Given the description of an element on the screen output the (x, y) to click on. 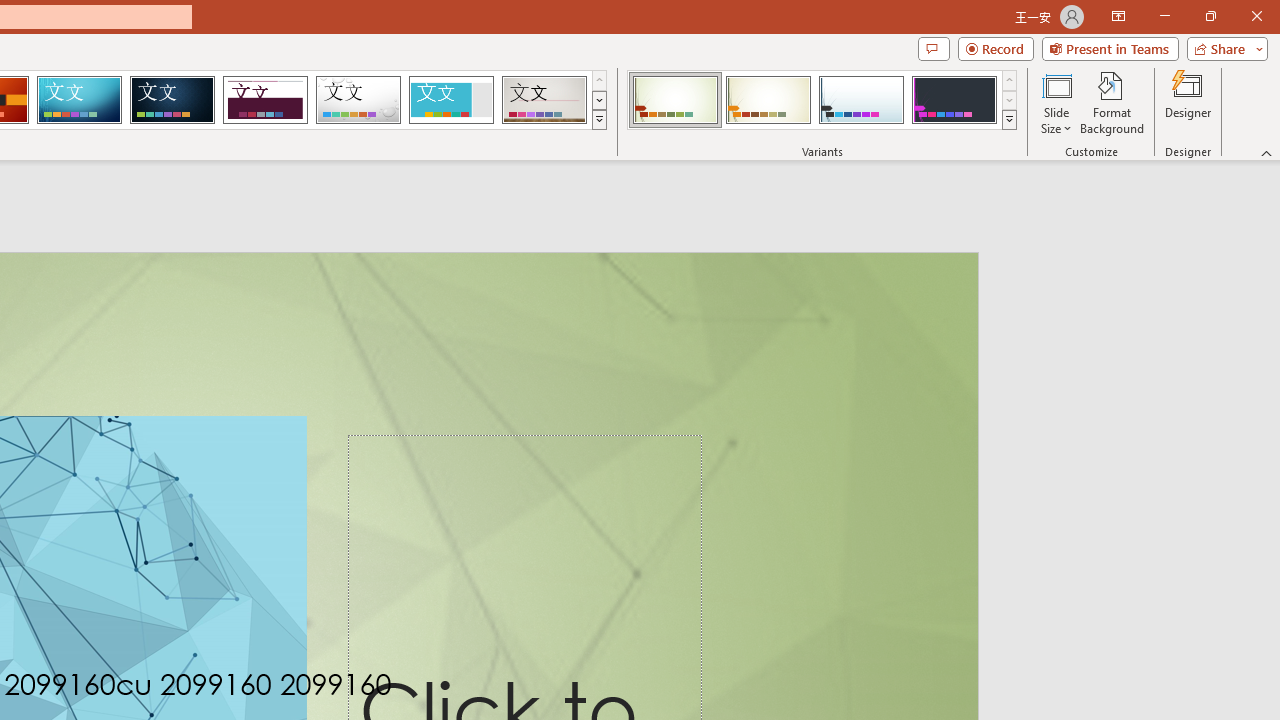
Minimize (1164, 16)
Row up (1009, 79)
Droplet Loading Preview... (358, 100)
Circuit Loading Preview... (79, 100)
Present in Teams (1109, 48)
Collapse the Ribbon (1267, 152)
Share (1223, 48)
Restore Down (1210, 16)
Class: NetUIImage (1009, 119)
Comments (933, 48)
Wisp Variant 1 (674, 100)
Close (1256, 16)
Damask Loading Preview... (171, 100)
